Given the description of an element on the screen output the (x, y) to click on. 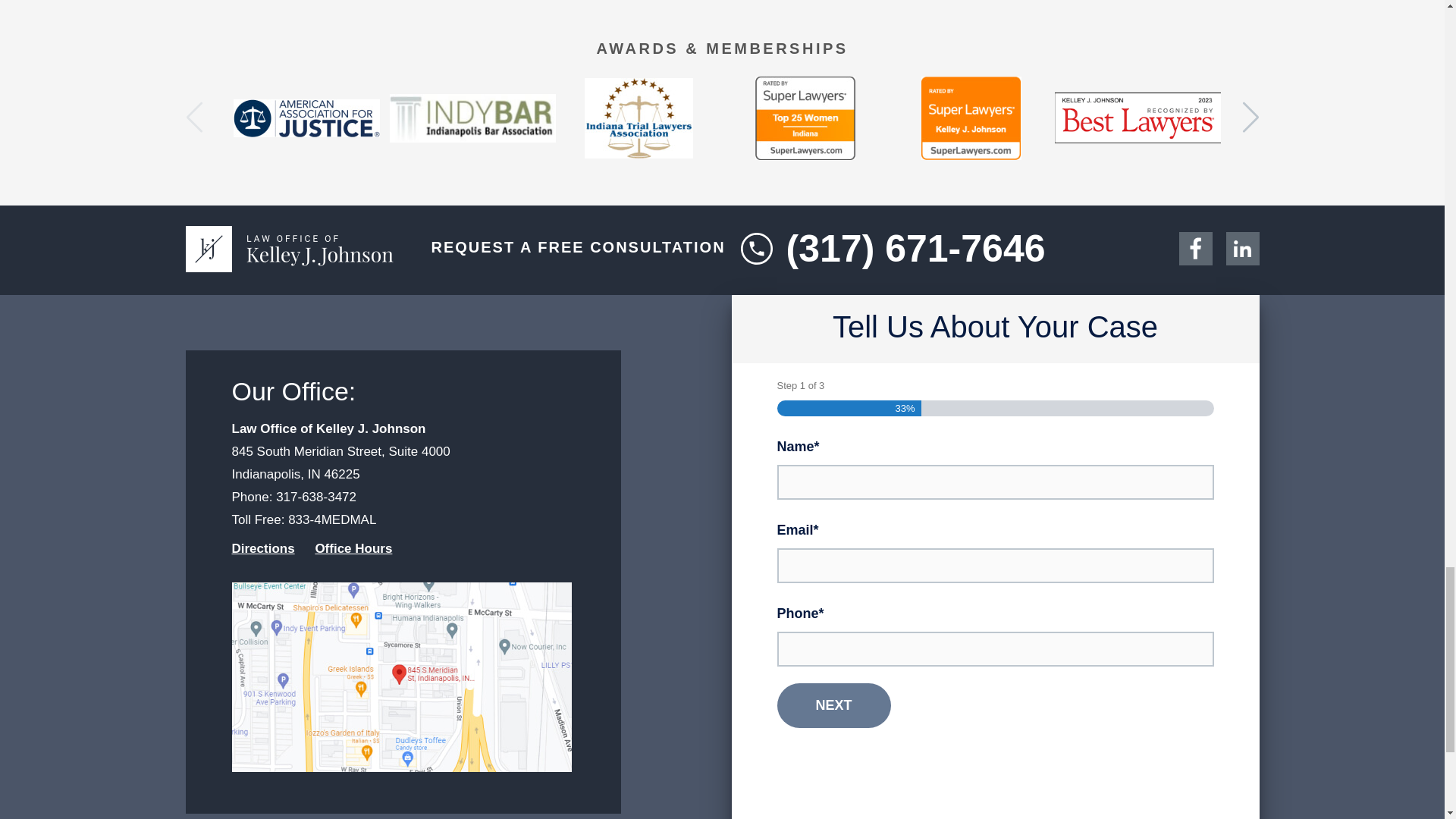
Next (832, 705)
